Given the description of an element on the screen output the (x, y) to click on. 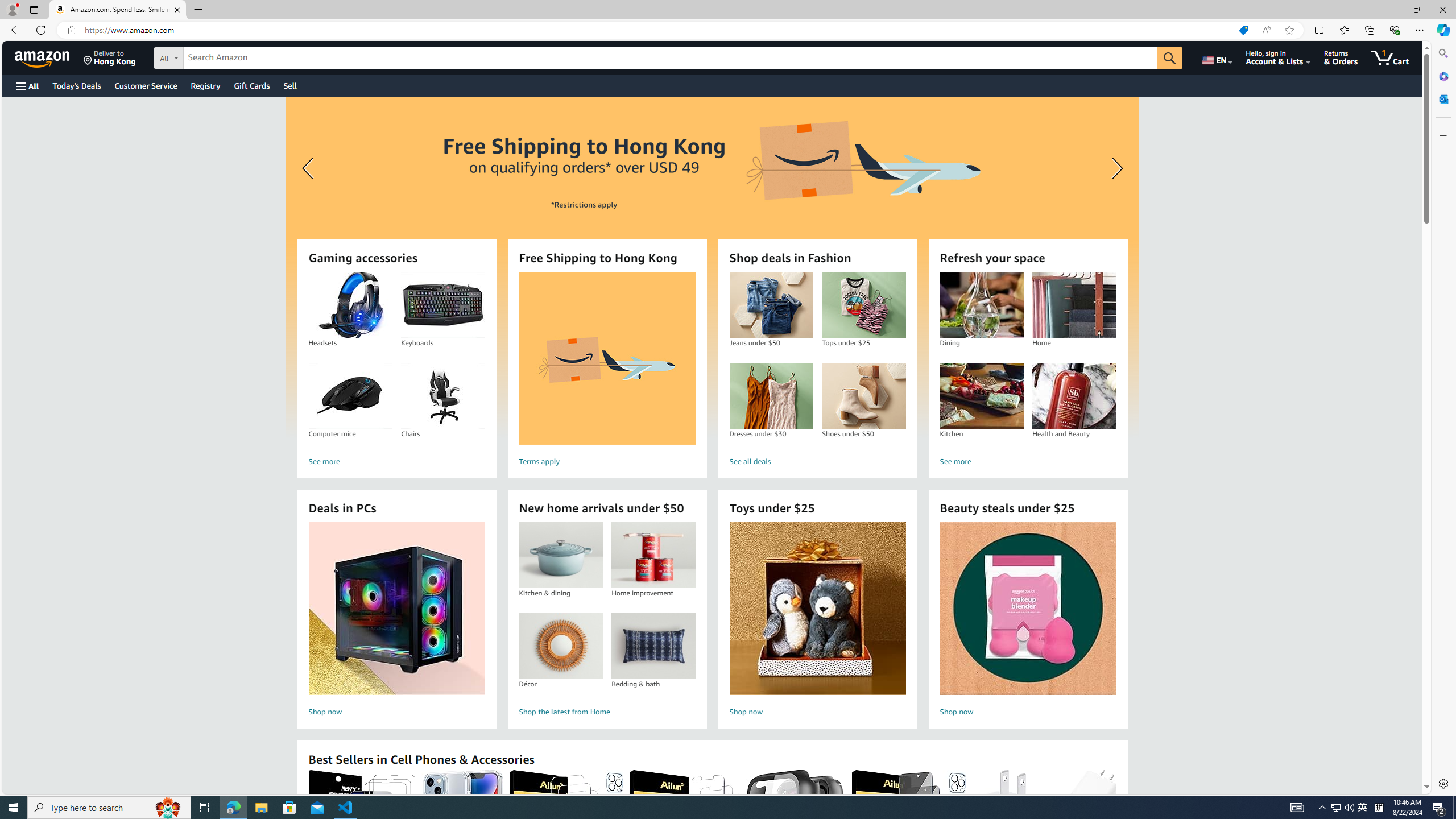
Headsets (350, 304)
Chairs (443, 395)
Computer mice (350, 395)
Deliver to Hong Kong (109, 57)
Class: a-carousel-card (711, 267)
Registry (205, 85)
Go (1169, 57)
Computer mice (350, 395)
See all deals (817, 461)
